Given the description of an element on the screen output the (x, y) to click on. 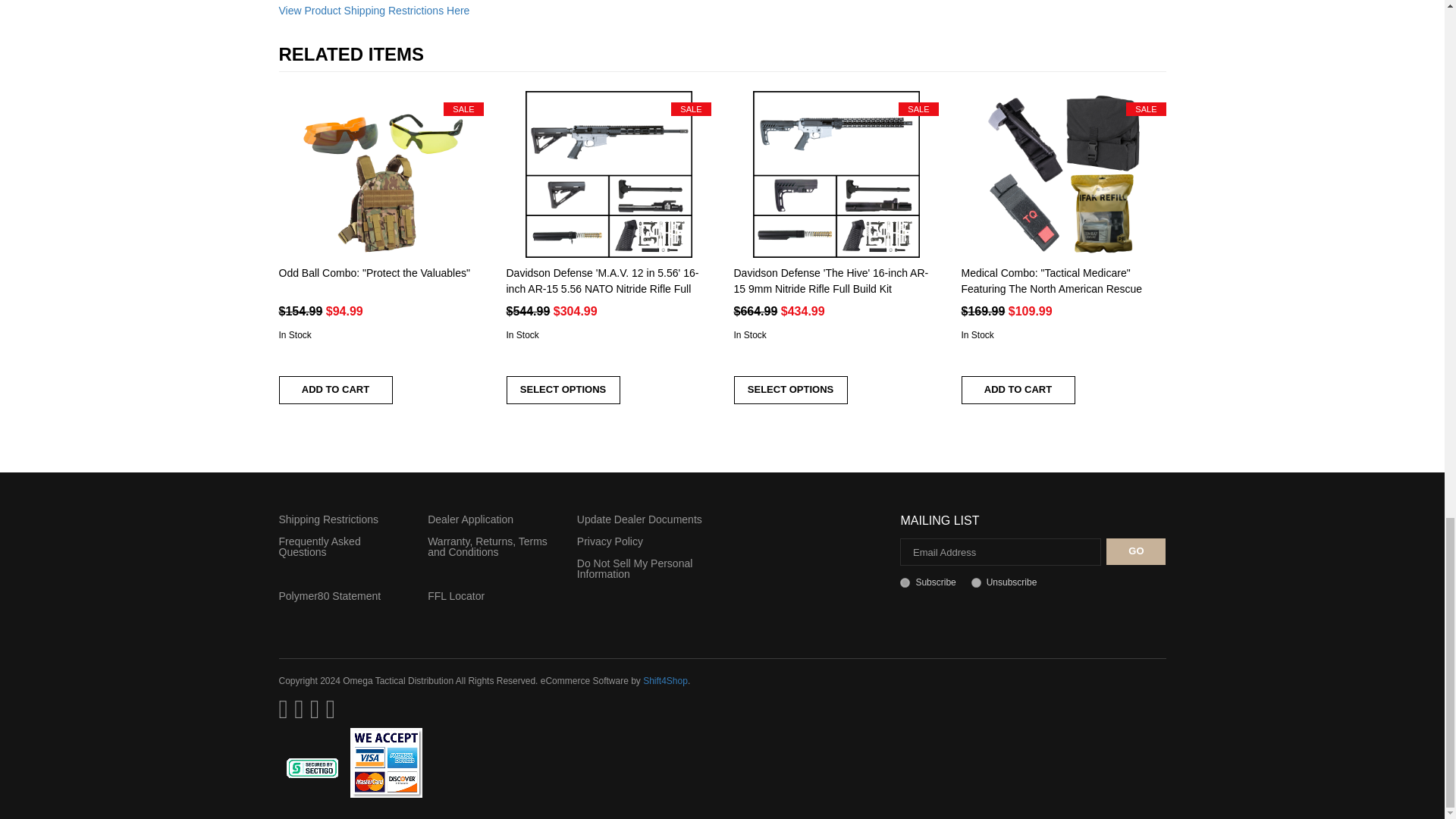
0 (976, 583)
1 (904, 583)
